Given the description of an element on the screen output the (x, y) to click on. 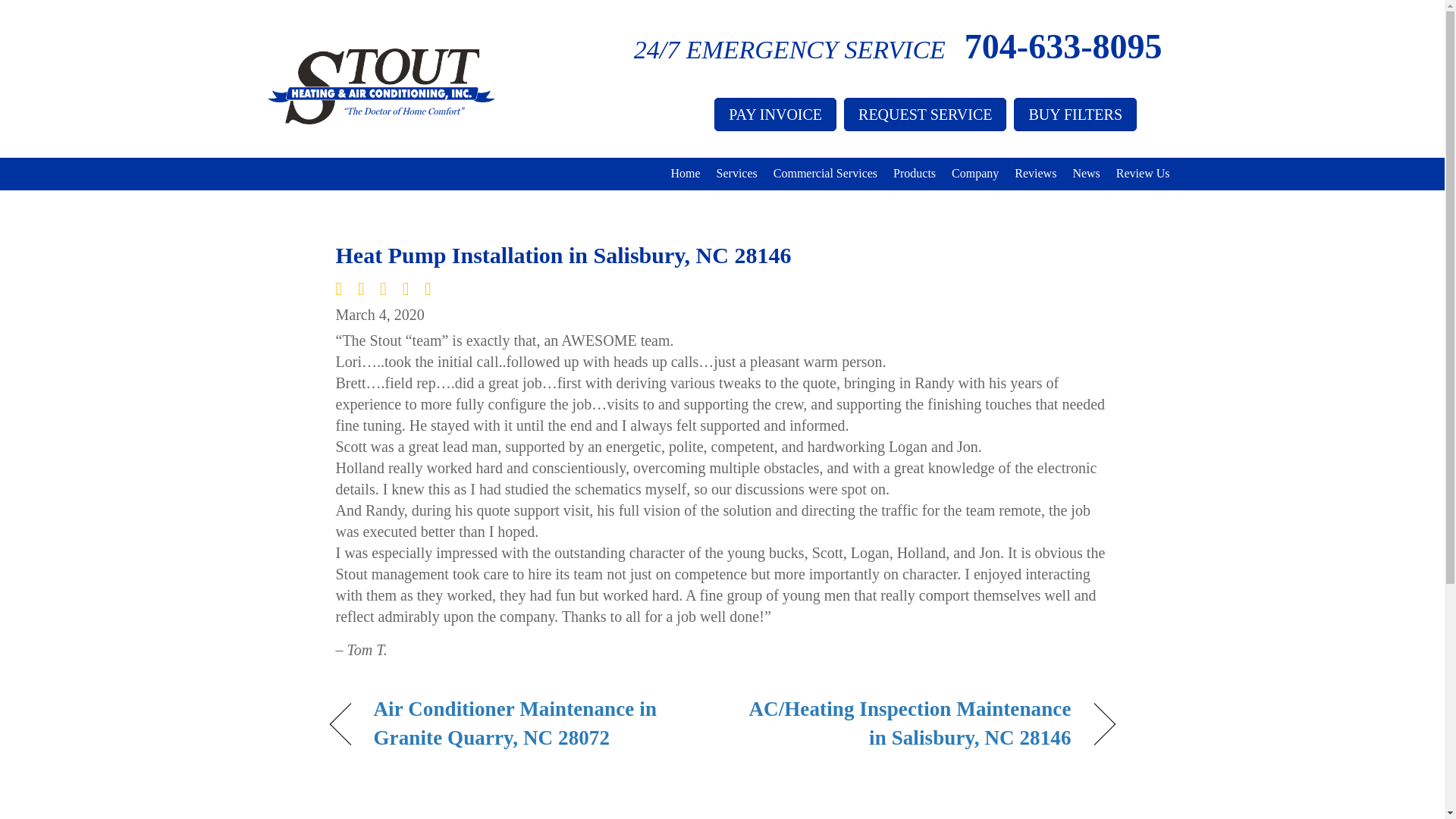
BUY FILTERS (1075, 114)
SHA-Logo-RGB (380, 86)
PAY INVOICE (774, 114)
Services (737, 173)
Commercial Services (825, 173)
704-633-8095 (1062, 46)
Products (914, 173)
REQUEST SERVICE (925, 114)
Home (684, 173)
Company (974, 173)
